Given the description of an element on the screen output the (x, y) to click on. 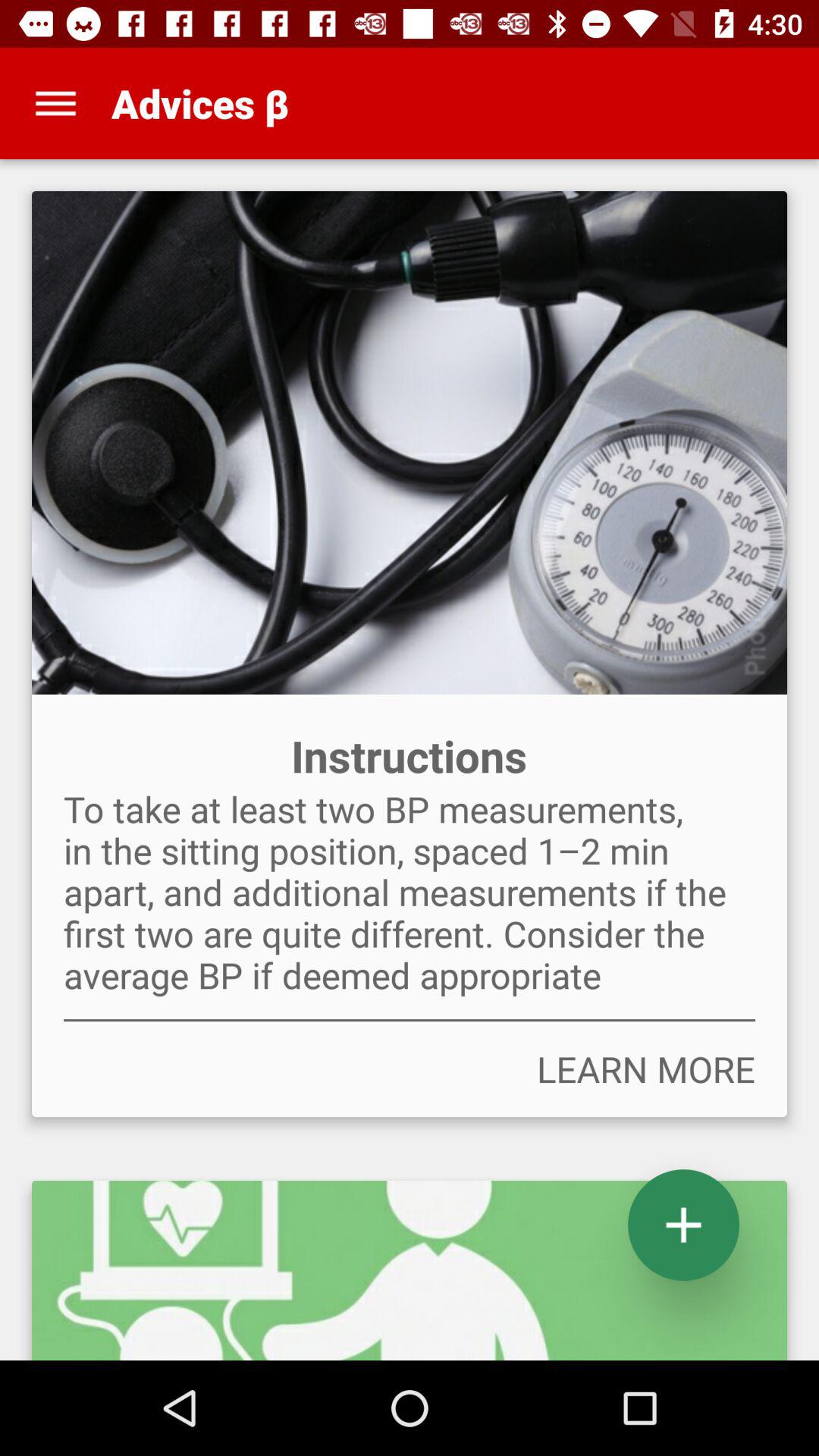
launch the item at the top left corner (55, 103)
